Given the description of an element on the screen output the (x, y) to click on. 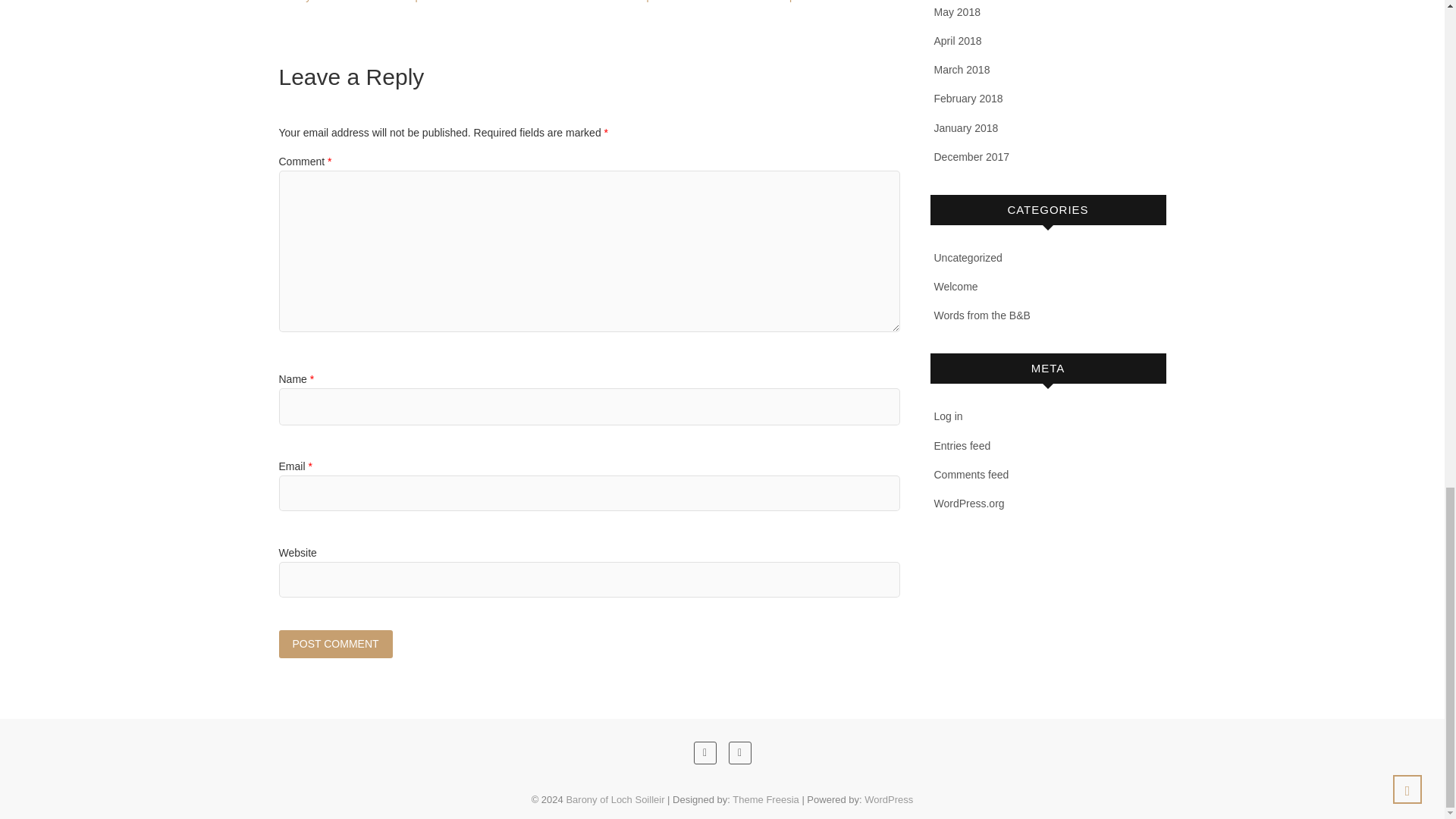
Theme Freesia (764, 799)
WordPress (888, 799)
Barony of Loch Soilleir (614, 799)
Post Comment (336, 643)
